Given the description of an element on the screen output the (x, y) to click on. 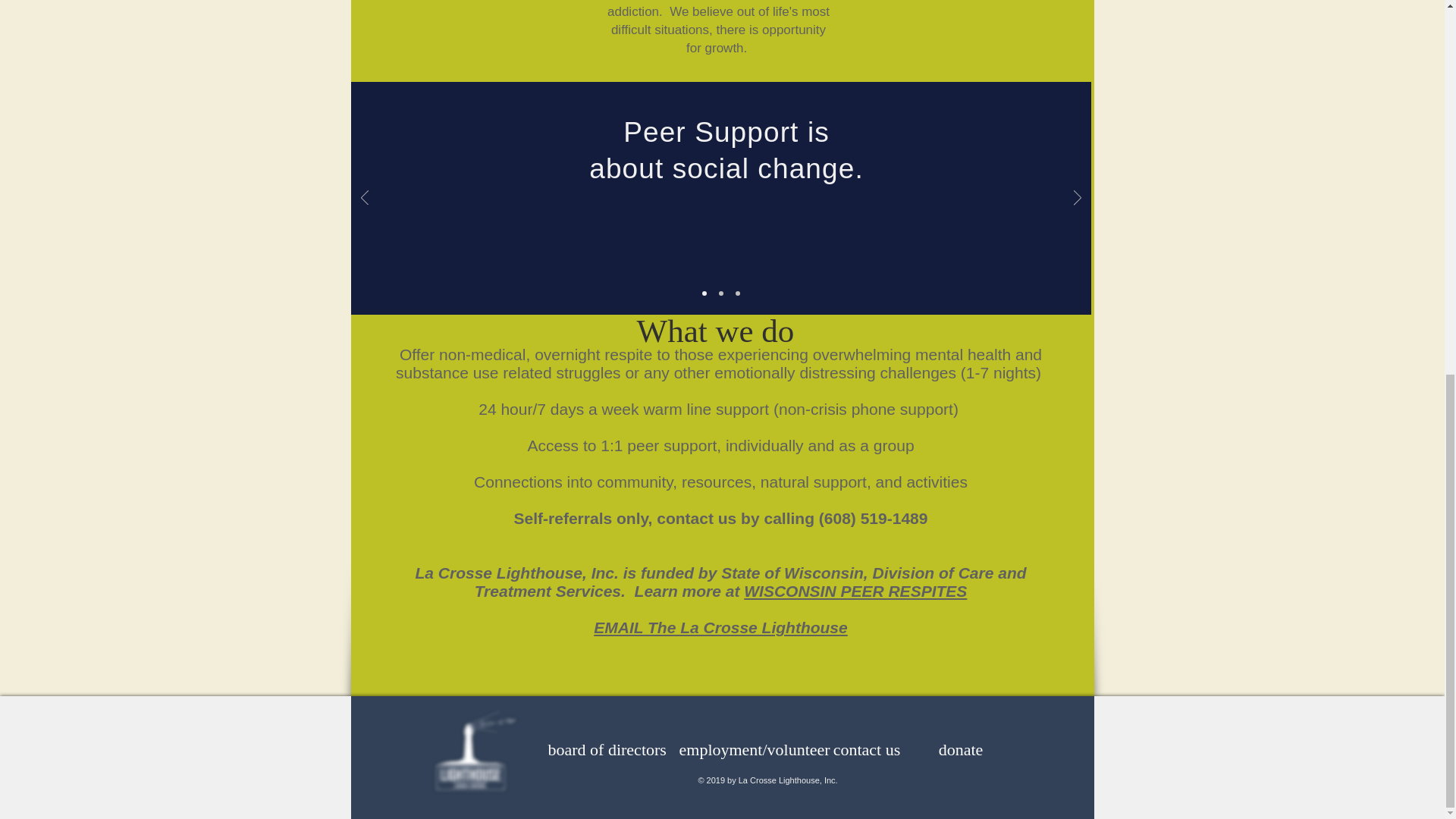
WISCONSIN PEER RESPITES (855, 590)
contact us (867, 750)
donate (960, 750)
board of directors (606, 750)
EMAIL The La Crosse Lighthouse (720, 627)
